Given the description of an element on the screen output the (x, y) to click on. 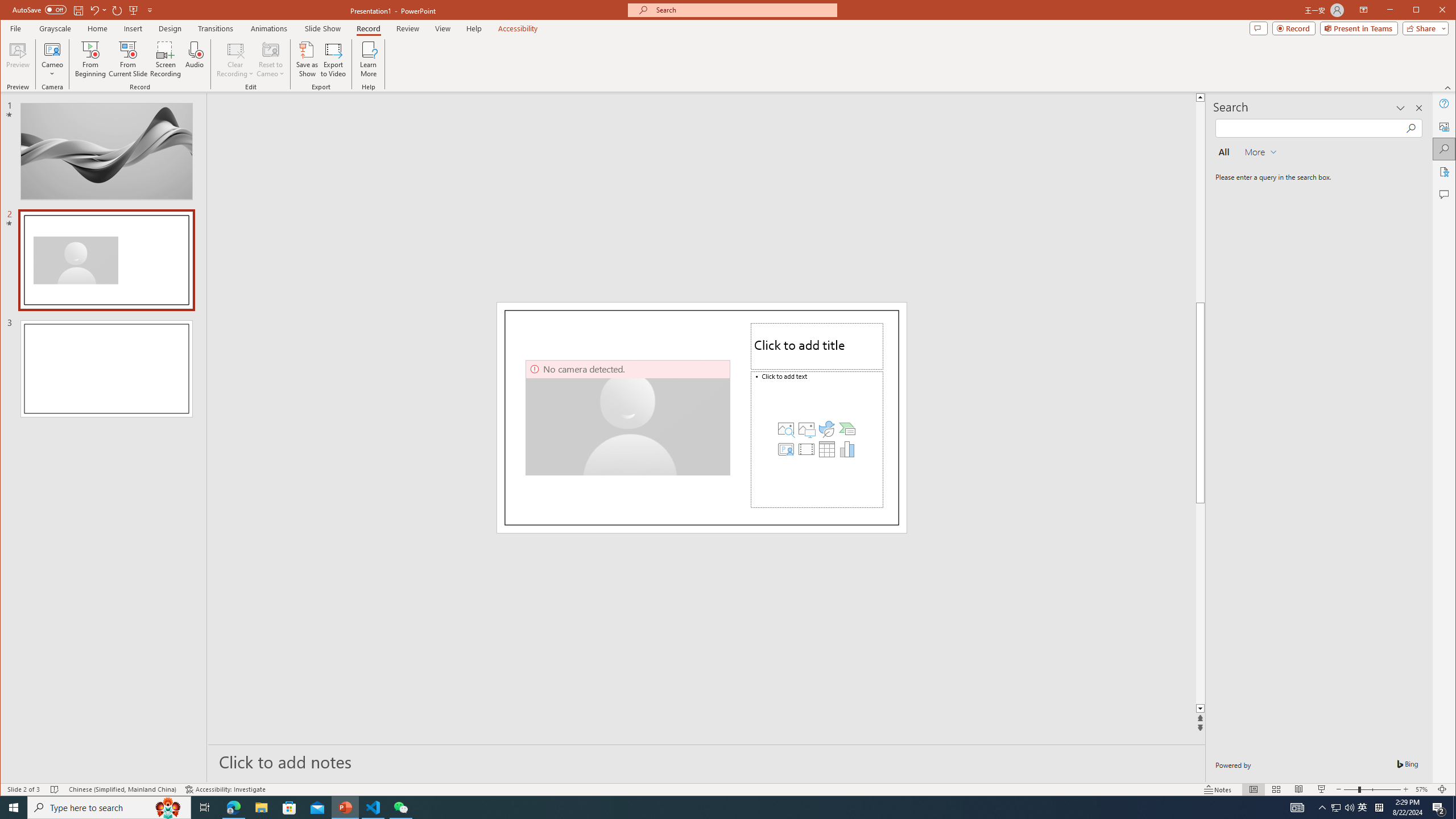
Camera 4, No camera detected. (627, 417)
